Given the description of an element on the screen output the (x, y) to click on. 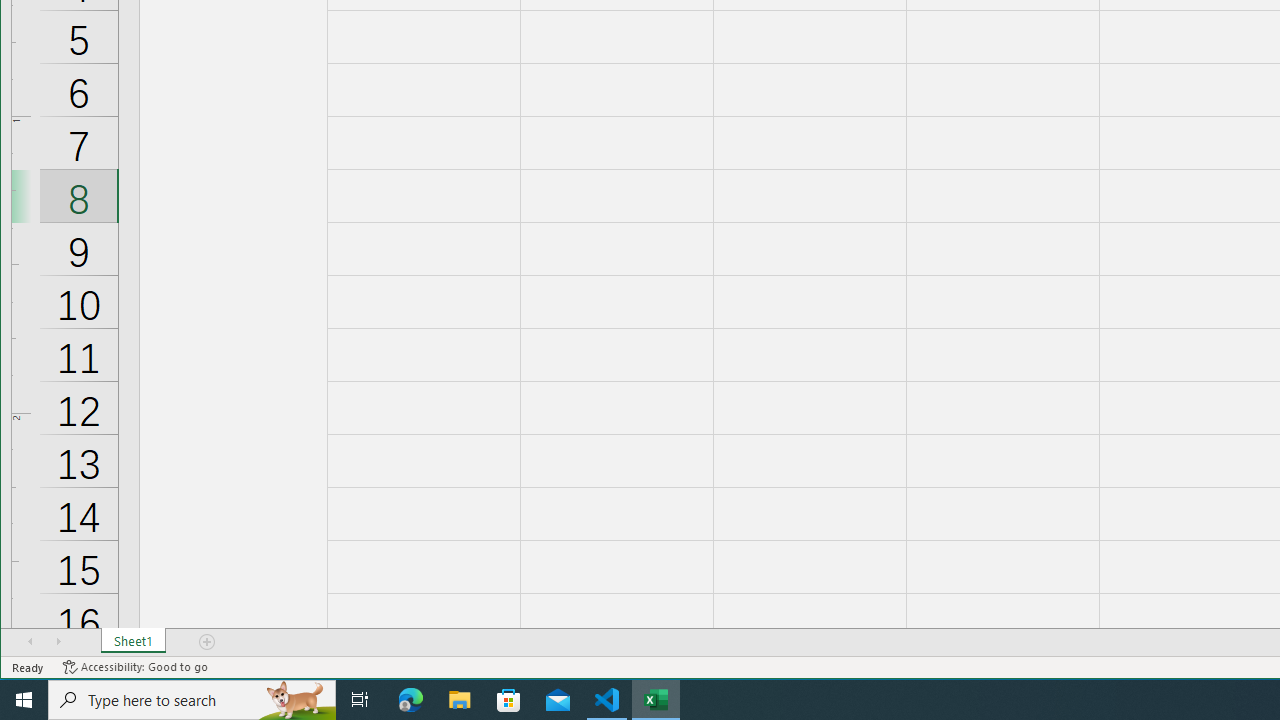
Microsoft Store (509, 699)
Task View (359, 699)
Type here to search (191, 699)
File Explorer (460, 699)
Microsoft Edge (411, 699)
Search highlights icon opens search home window (295, 699)
Visual Studio Code - 1 running window (607, 699)
Start (24, 699)
Excel - 1 running window (656, 699)
